Given the description of an element on the screen output the (x, y) to click on. 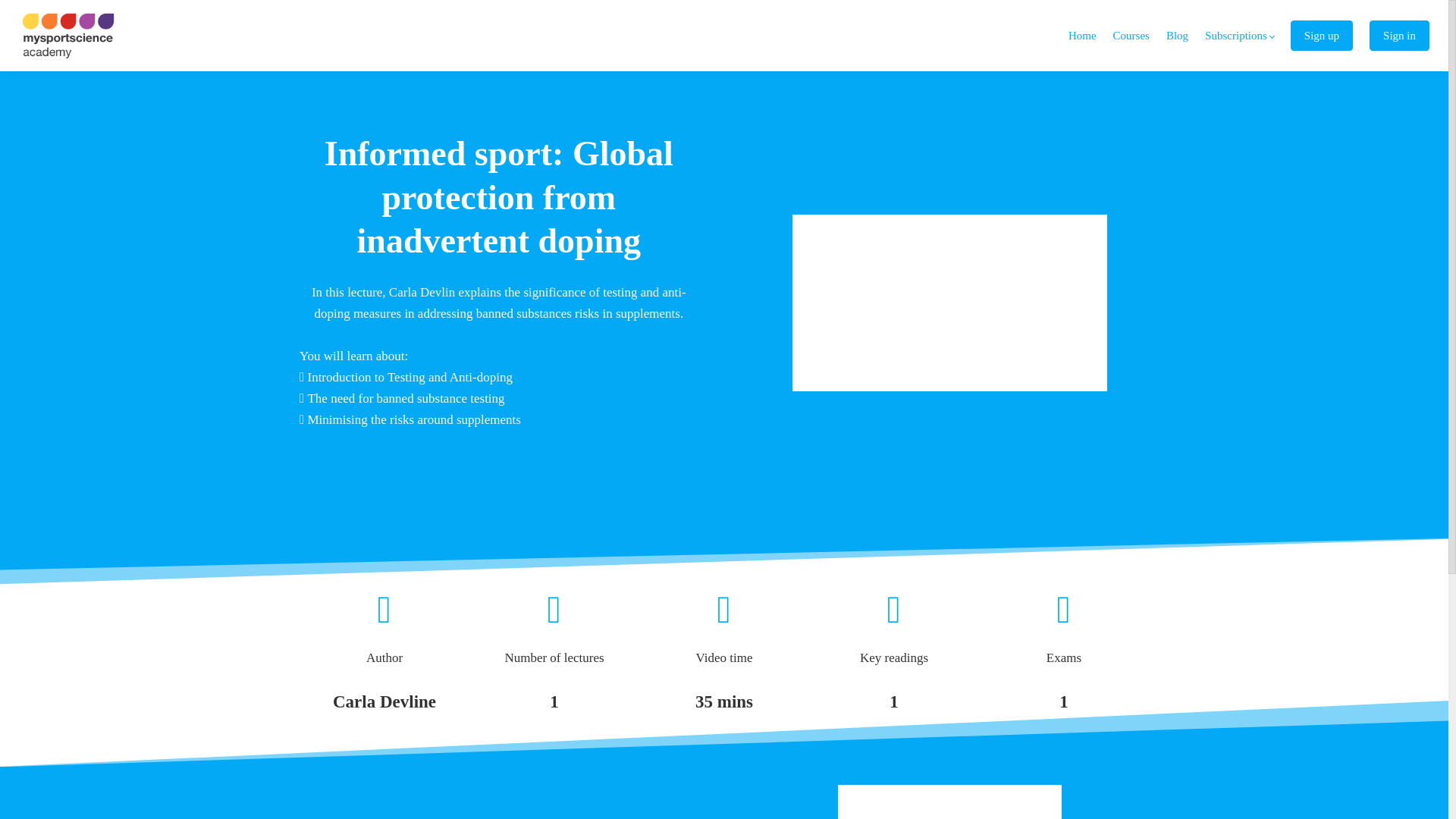
Home (1082, 35)
Sign in (1399, 35)
Blog (1177, 35)
Sign up (1321, 35)
Courses (1131, 35)
